Given the description of an element on the screen output the (x, y) to click on. 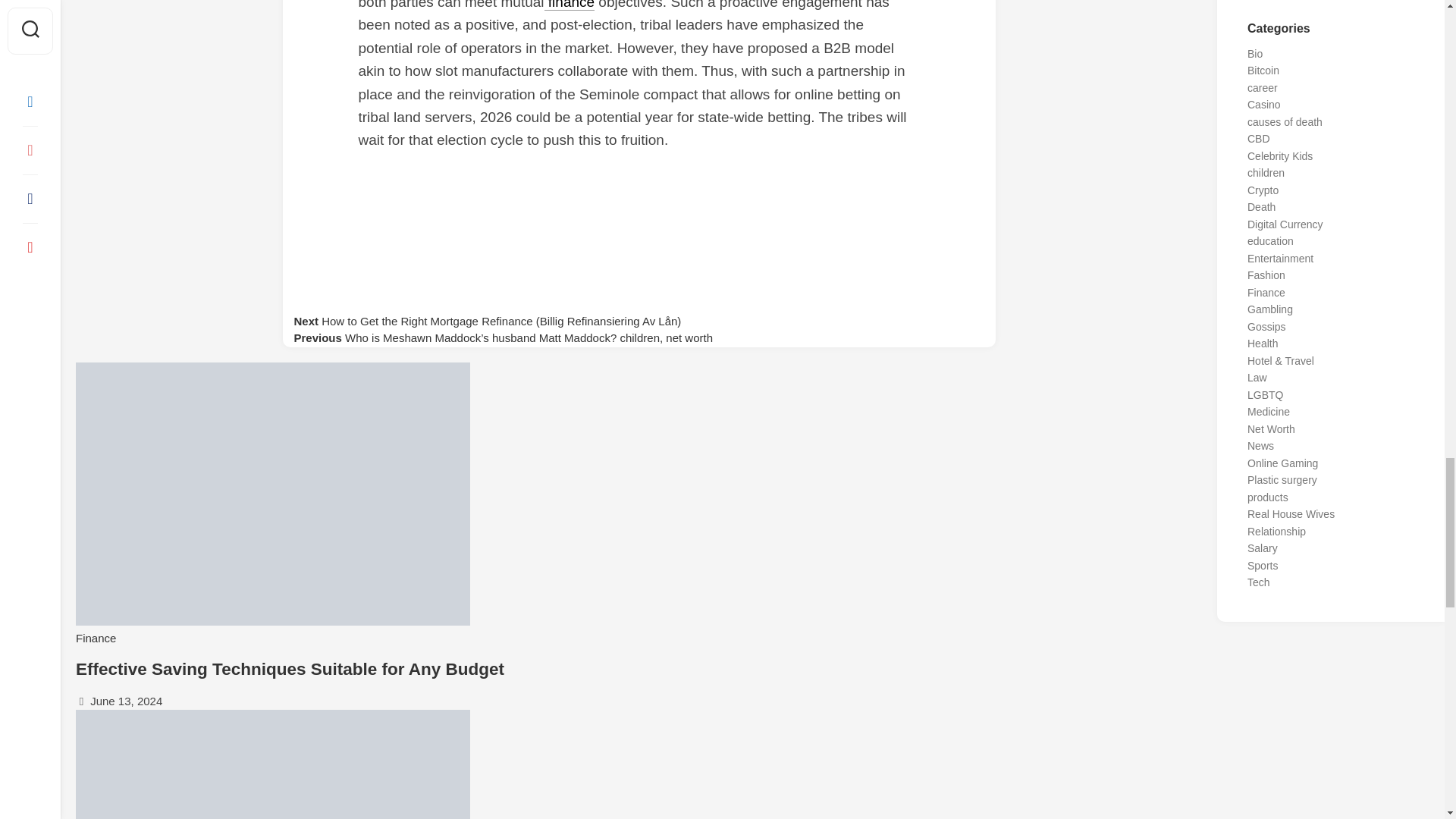
Share on X (638, 193)
Share on Facebook (638, 227)
Share on LinkedIn (638, 295)
Share on Pinterest (638, 261)
